Given the description of an element on the screen output the (x, y) to click on. 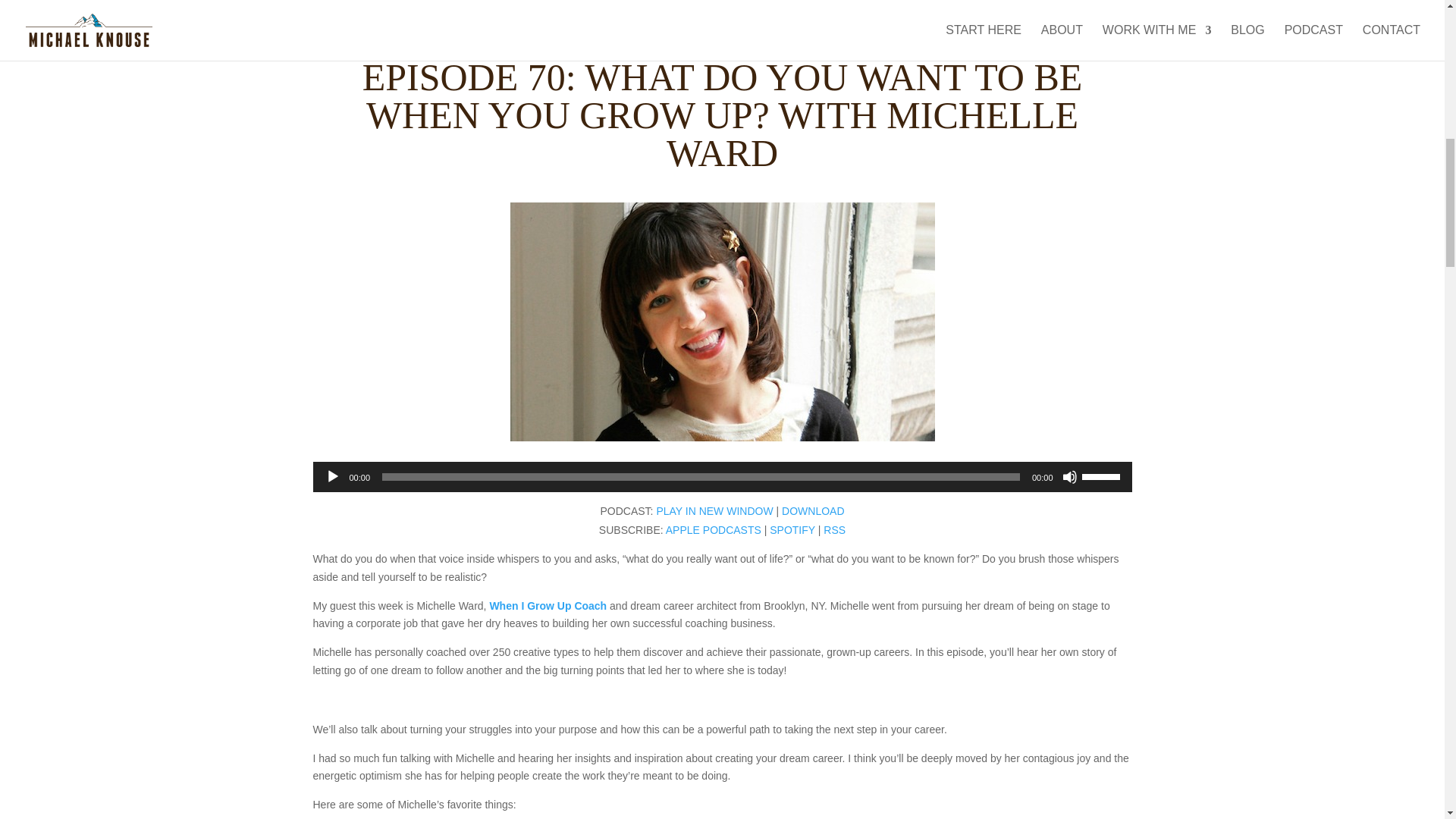
Mute (1069, 476)
When I Grow Up Coach (548, 605)
SPOTIFY (792, 530)
Subscribe via RSS (834, 530)
Play in new window (714, 510)
RSS (834, 530)
DOWNLOAD (812, 510)
Play (331, 476)
APPLE PODCASTS (713, 530)
PLAY IN NEW WINDOW (714, 510)
When I Grow Up Coach (548, 605)
Subscribe on Apple Podcasts (713, 530)
Subscribe on Spotify (792, 530)
Download (812, 510)
